Given the description of an element on the screen output the (x, y) to click on. 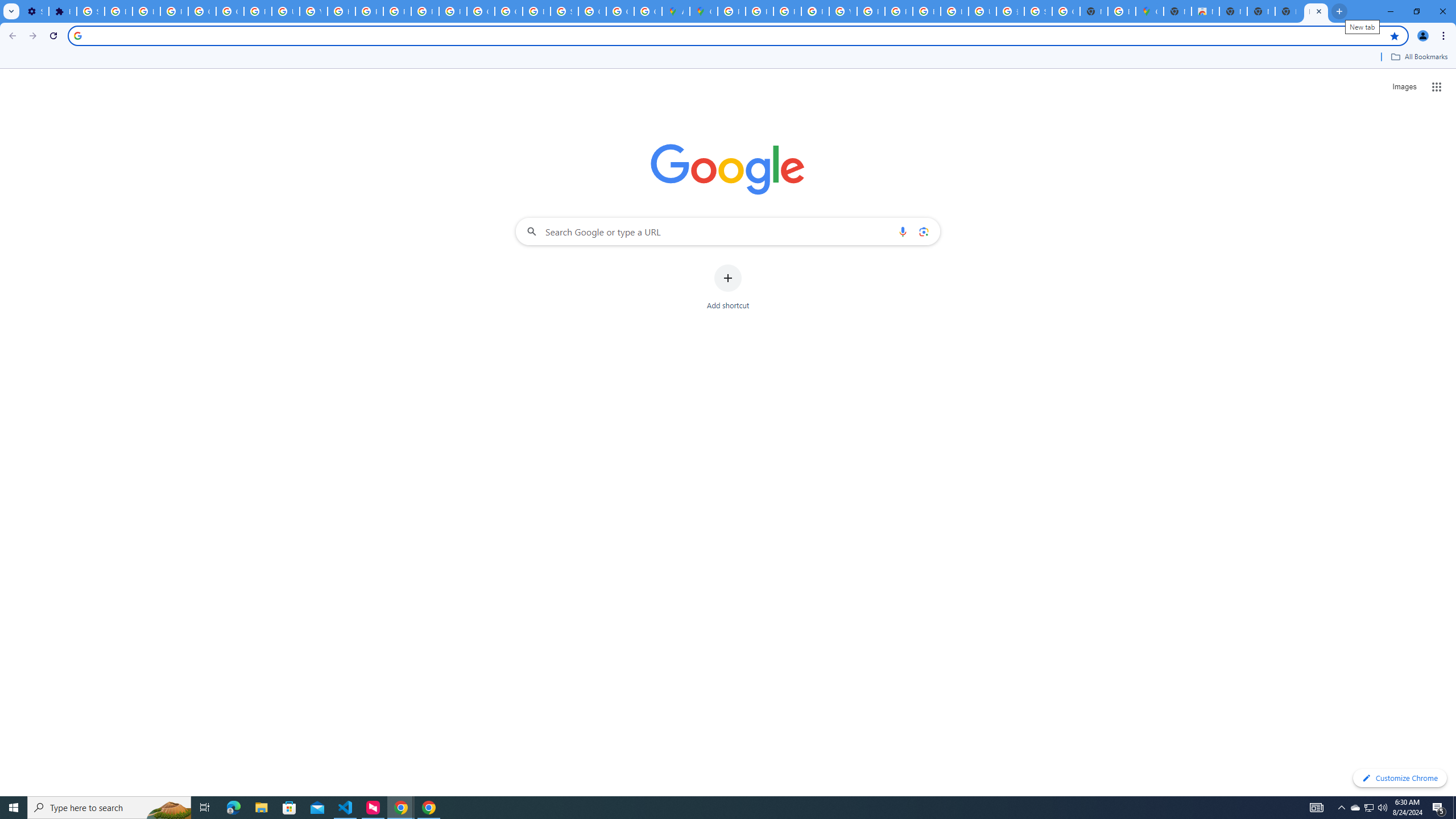
Sign in - Google Accounts (1038, 11)
https://scholar.google.com/ (341, 11)
Browse Chrome as a guest - Computer - Google Chrome Help (926, 11)
